Given the description of an element on the screen output the (x, y) to click on. 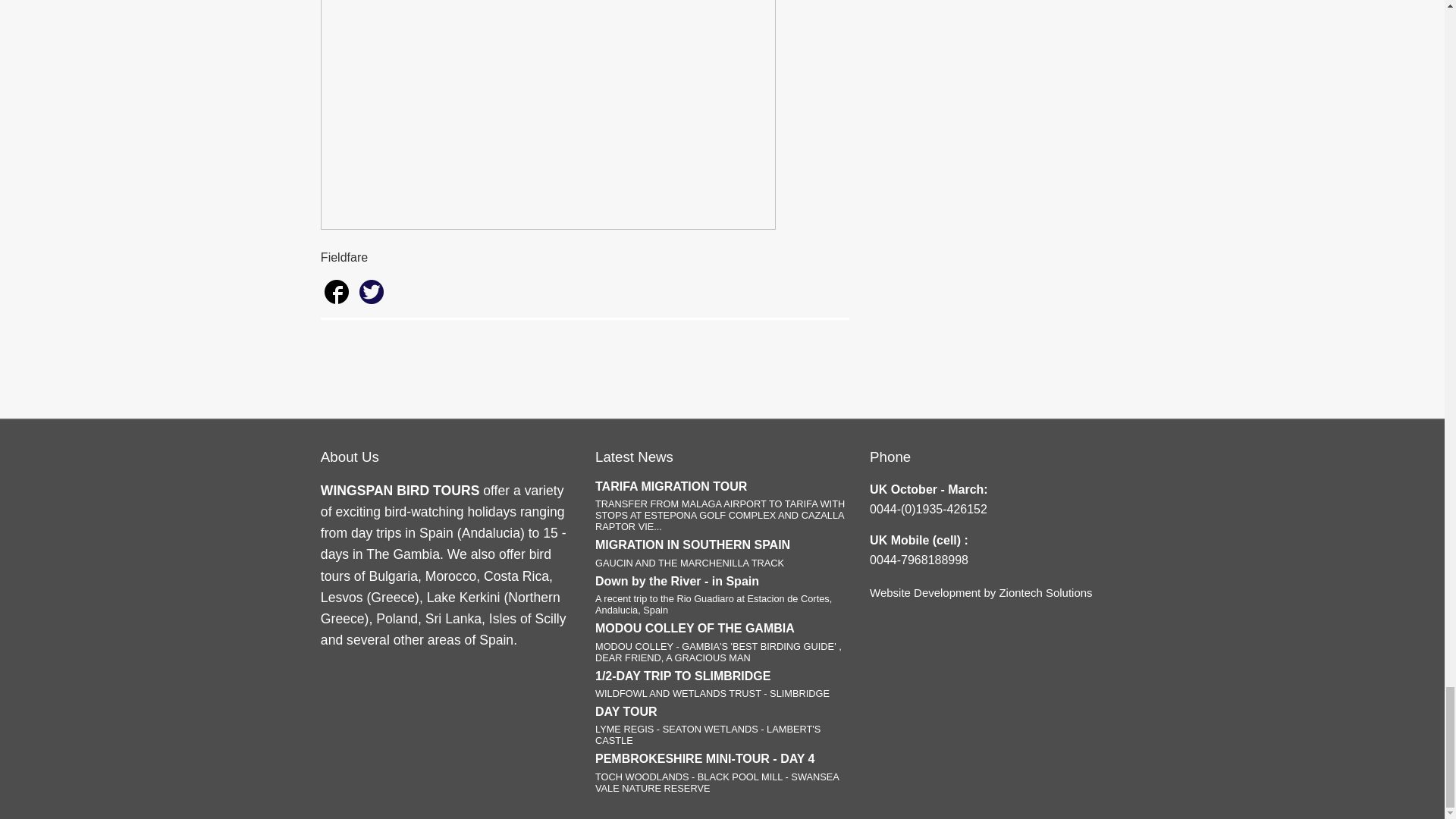
About Us (349, 456)
Ziontech Solutions (1045, 592)
Latest News (633, 456)
